Given the description of an element on the screen output the (x, y) to click on. 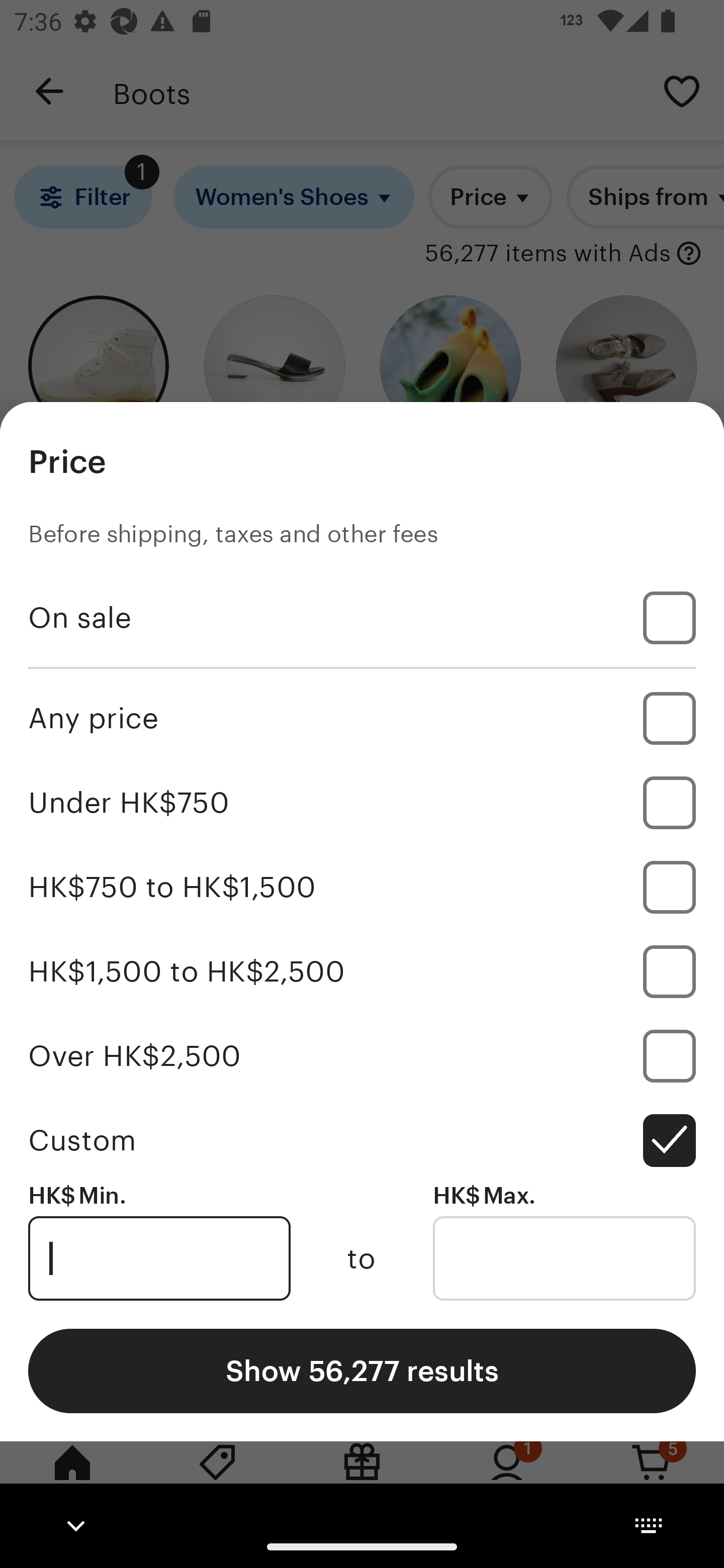
On sale (362, 617)
Any price (362, 717)
Under HK$750 (362, 802)
HK$750 to HK$1,500 (362, 887)
HK$1,500 to HK$2,500 (362, 970)
Over HK$2,500 (362, 1054)
Custom (362, 1139)
Show 56,277 results (361, 1370)
